Given the description of an element on the screen output the (x, y) to click on. 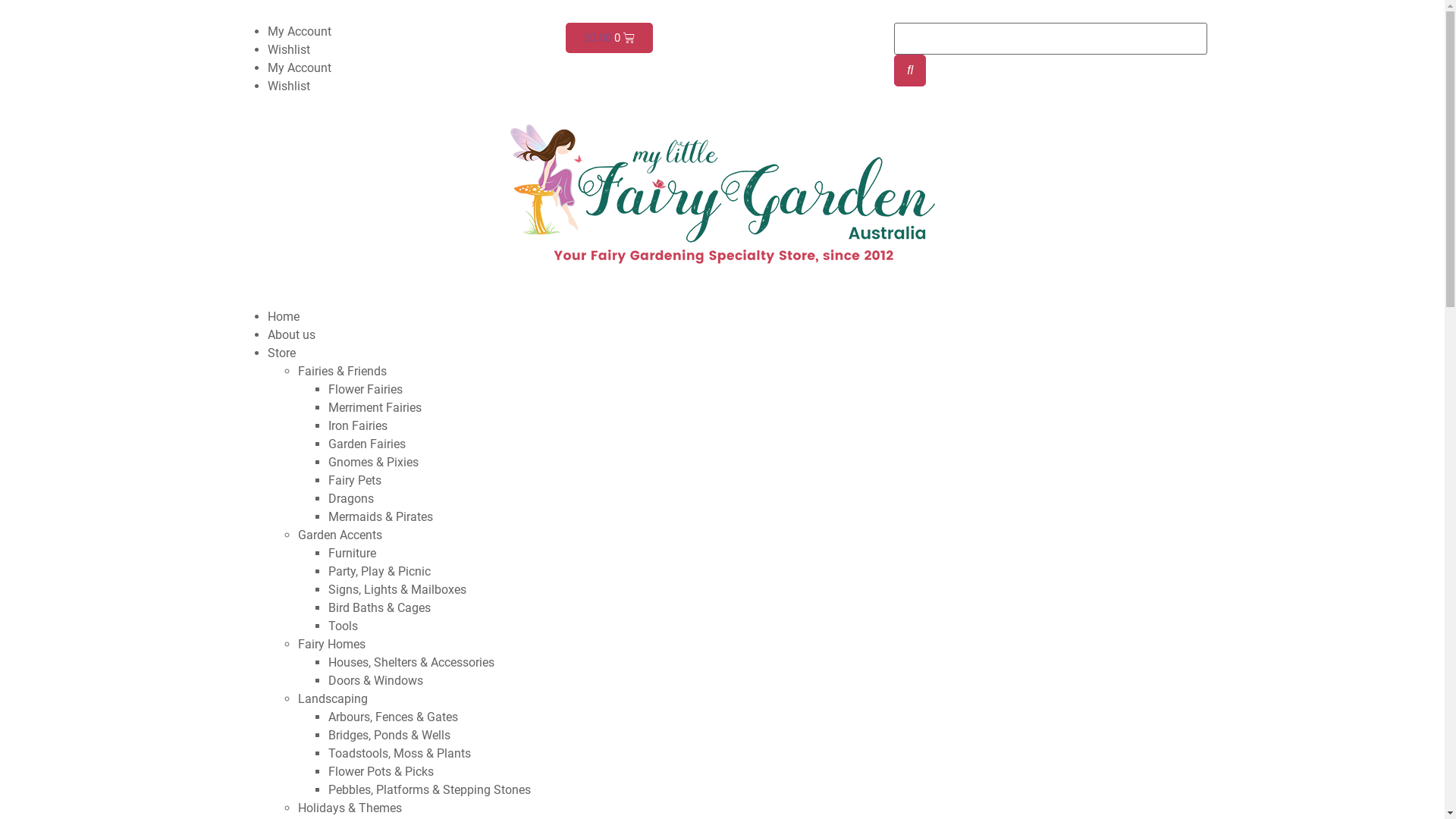
Houses, Shelters & Accessories Element type: text (410, 662)
Gnomes & Pixies Element type: text (372, 462)
Bridges, Ponds & Wells Element type: text (388, 735)
Garden Accents Element type: text (339, 534)
Flower Pots & Picks Element type: text (380, 771)
Fairy Pets Element type: text (353, 480)
Signs, Lights & Mailboxes Element type: text (396, 589)
Toadstools, Moss & Plants Element type: text (398, 753)
Wishlist Element type: text (287, 85)
About us Element type: text (290, 334)
Iron Fairies Element type: text (356, 425)
Merriment Fairies Element type: text (373, 407)
Dragons Element type: text (350, 498)
Bird Baths & Cages Element type: text (378, 607)
Wishlist Element type: text (287, 49)
Fairies & Friends Element type: text (341, 371)
My Account Element type: text (298, 31)
Fairy Homes Element type: text (330, 644)
Furniture Element type: text (351, 553)
Doors & Windows Element type: text (374, 680)
Mermaids & Pirates Element type: text (379, 516)
Landscaping Element type: text (332, 698)
Holidays & Themes Element type: text (349, 807)
Arbours, Fences & Gates Element type: text (392, 716)
Home Element type: text (282, 316)
Pebbles, Platforms & Stepping Stones Element type: text (428, 789)
$0.00 0 Element type: text (608, 37)
Flower Fairies Element type: text (364, 389)
Tools Element type: text (342, 625)
My Account Element type: text (298, 67)
Party, Play & Picnic Element type: text (378, 571)
Store Element type: text (280, 352)
Garden Fairies Element type: text (365, 443)
